Given the description of an element on the screen output the (x, y) to click on. 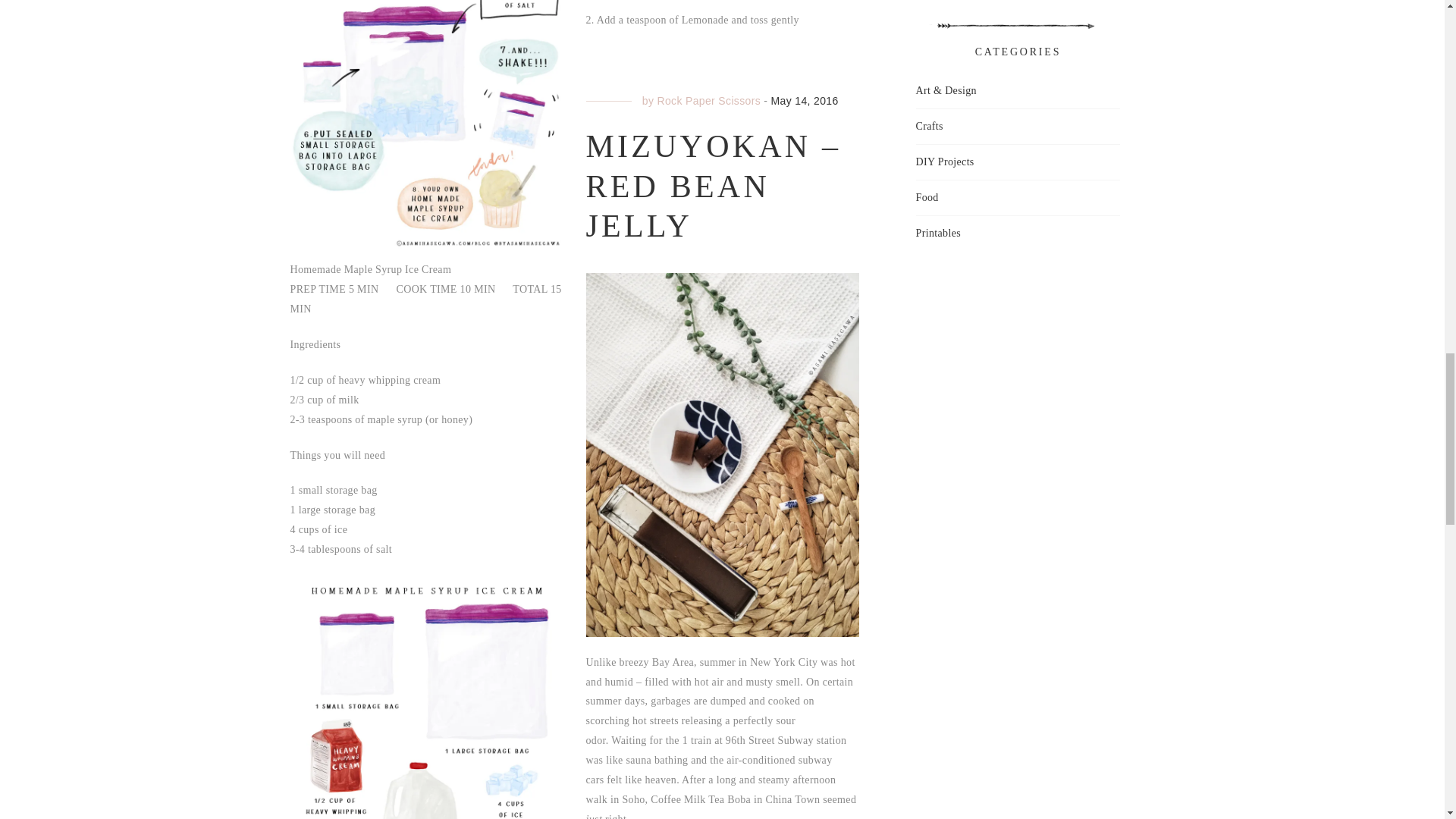
Rock Paper Scissors (708, 101)
Food (927, 198)
Crafts (929, 126)
Printables (937, 233)
May 14, 2016 (804, 101)
DIY Projects (944, 161)
